Given the description of an element on the screen output the (x, y) to click on. 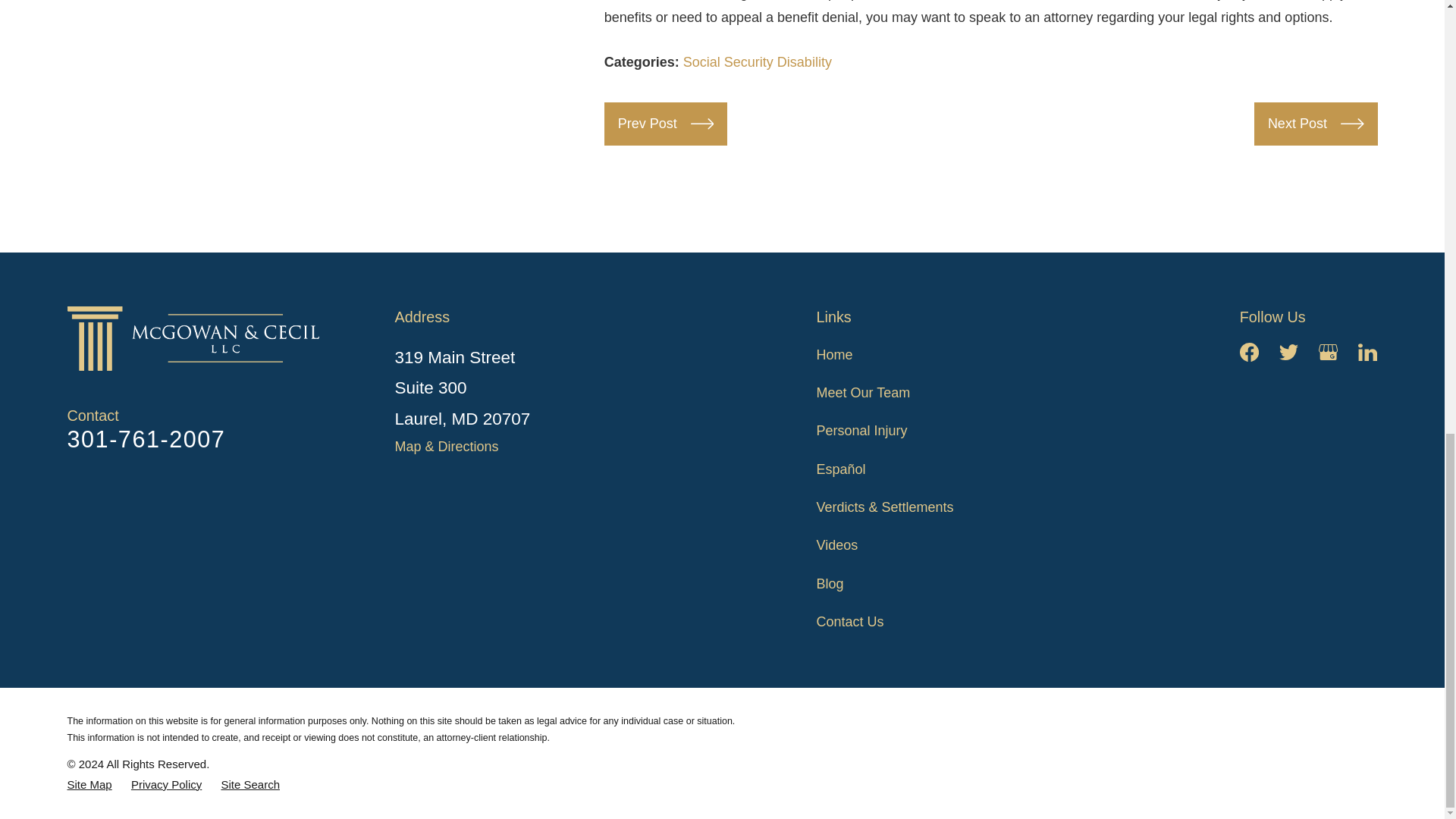
Twitter (1288, 352)
Facebook (1249, 352)
Google Business Profile (1328, 352)
Home (198, 338)
